Given the description of an element on the screen output the (x, y) to click on. 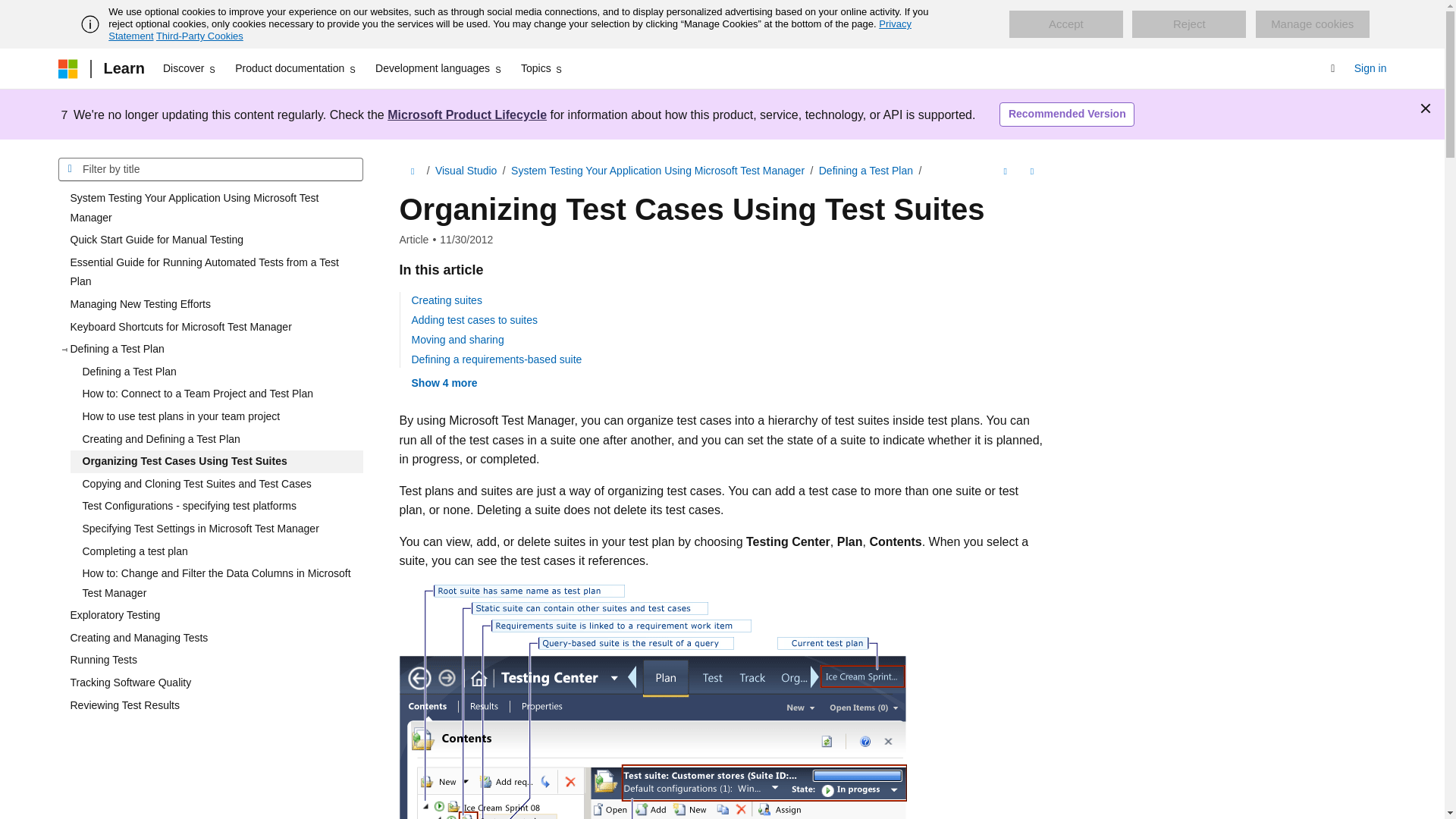
Keyboard Shortcuts for Microsoft Test Manager (210, 327)
Manage cookies (1312, 23)
Essential Guide for Running Automated Tests from a Test Plan (210, 272)
How to: Connect to a Team Project and Test Plan (215, 394)
Product documentation (295, 68)
Privacy Statement (509, 29)
Discover (189, 68)
Dismiss alert (1425, 108)
Microsoft Product Lifecycle (467, 114)
Reject (1189, 23)
